Given the description of an element on the screen output the (x, y) to click on. 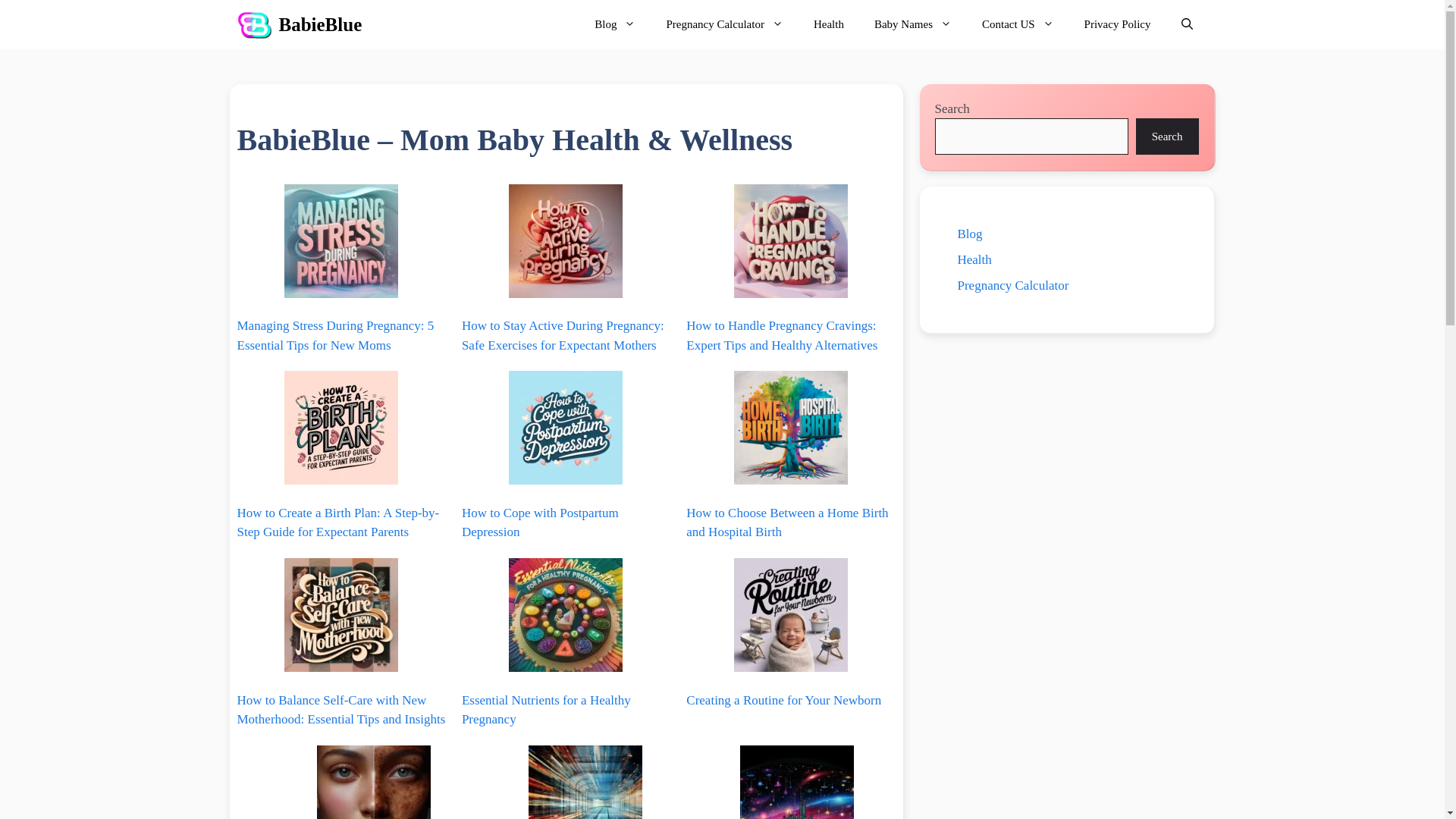
BabieBlue (320, 24)
How to Choose Between a Home Birth and Hospital Birth 7 (790, 427)
Creating a Routine for Your Newborn 10 (790, 614)
Blog (614, 24)
